Given the description of an element on the screen output the (x, y) to click on. 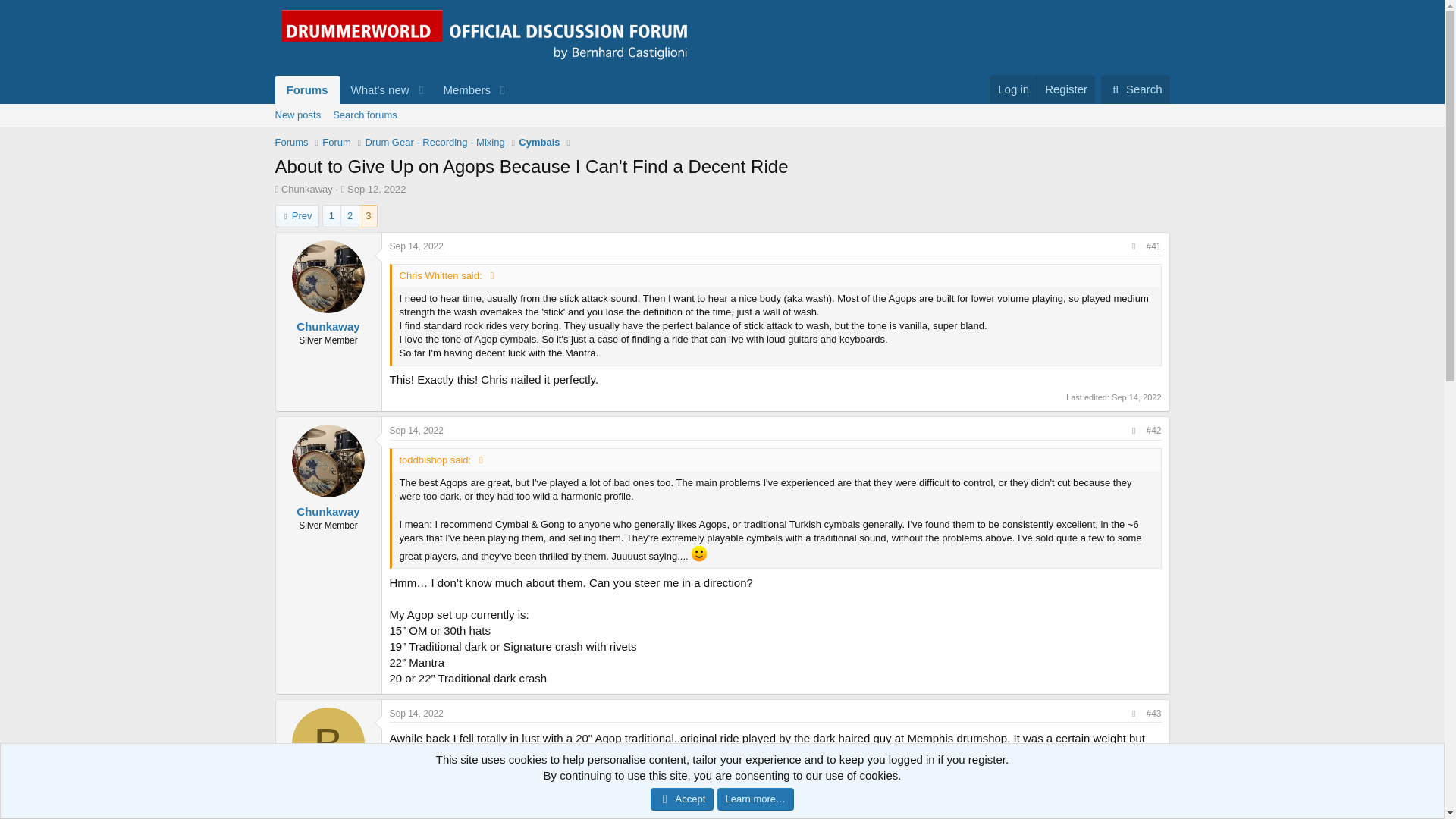
Forums (720, 132)
Chunkaway (307, 90)
Sep 14, 2022 at 6:44 PM (307, 188)
Log in (417, 245)
Drum Gear - Recording - Mixing (1013, 89)
Search forums (392, 90)
Prev (434, 142)
Sep 12, 2022 at 10:09 PM (364, 115)
New posts (296, 215)
Cymbals (376, 188)
Sep 14, 2022 at 8:33 PM (296, 115)
Register (538, 142)
